Given the description of an element on the screen output the (x, y) to click on. 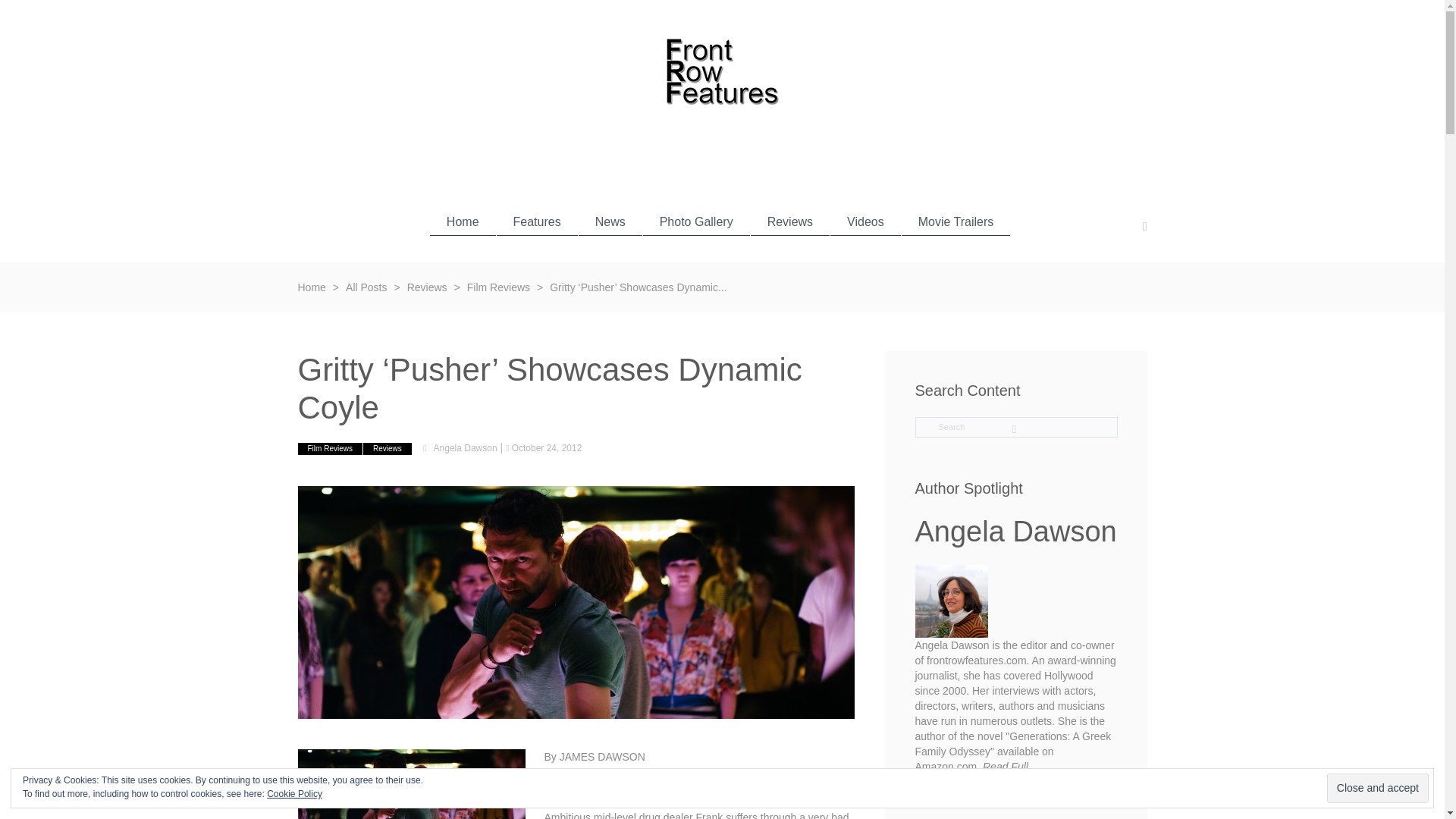
Reviews (426, 287)
Features (537, 221)
Advertisement (721, 154)
All Posts (366, 287)
Read full Profile (1004, 766)
Videos (865, 221)
Angela Dawson (465, 448)
Reviews (387, 449)
Film Reviews (329, 449)
Close and accept (1377, 788)
Film Reviews (498, 287)
More articles by this author (977, 781)
Reviews (790, 221)
Movie Trailers (955, 221)
News (610, 221)
